Given the description of an element on the screen output the (x, y) to click on. 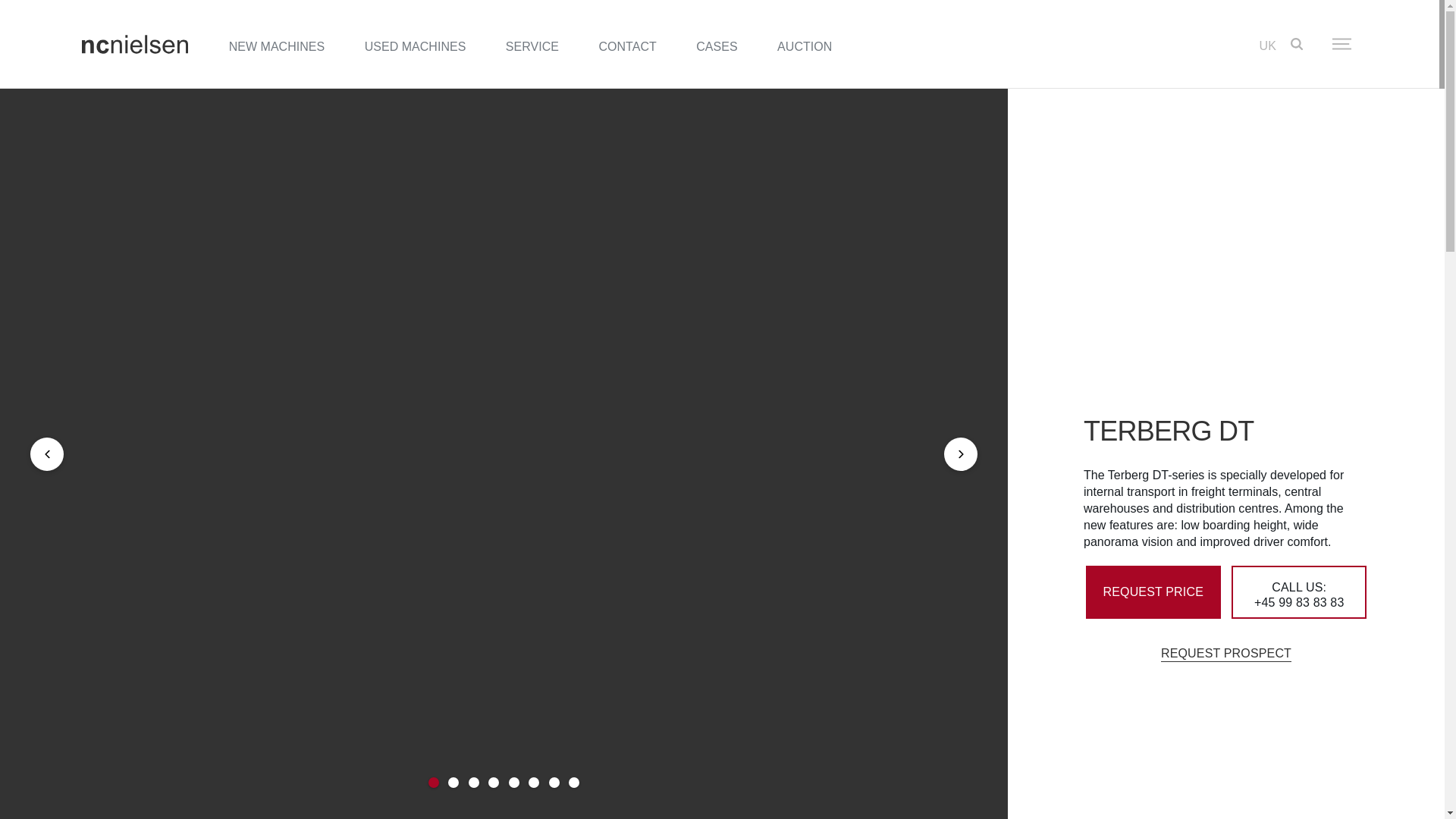
Used forklift trucks and haevy duty machines (415, 46)
SERVICE (532, 46)
NEW MACHINES (277, 46)
UK (1267, 45)
CASES (716, 46)
AUCTION (804, 46)
USED MACHINES (415, 46)
Truck service - 24-hour service for your Truck (532, 46)
New forklifts and machines to all kind of lifting tasks (277, 46)
